Given the description of an element on the screen output the (x, y) to click on. 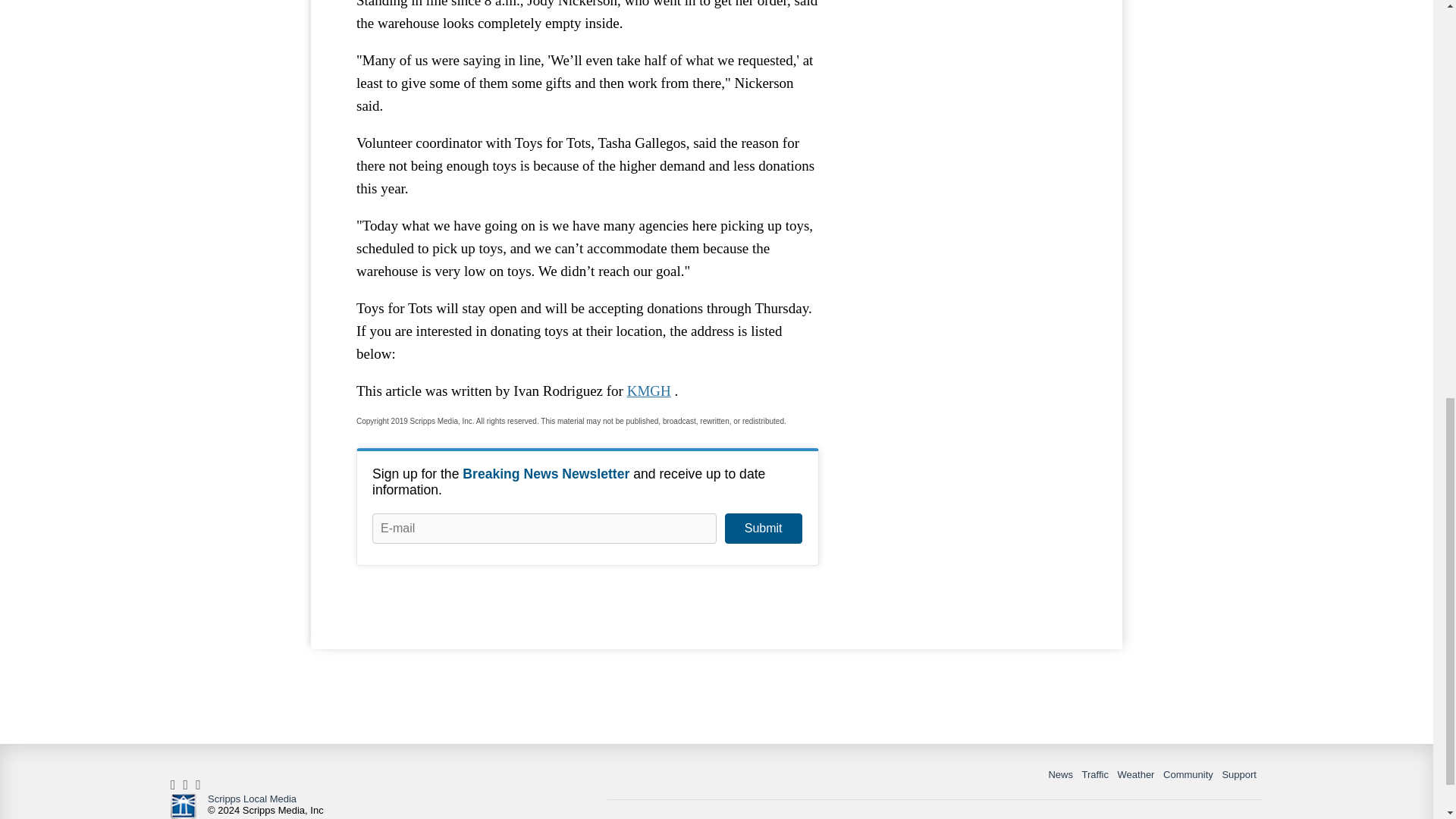
Submit (763, 528)
